Given the description of an element on the screen output the (x, y) to click on. 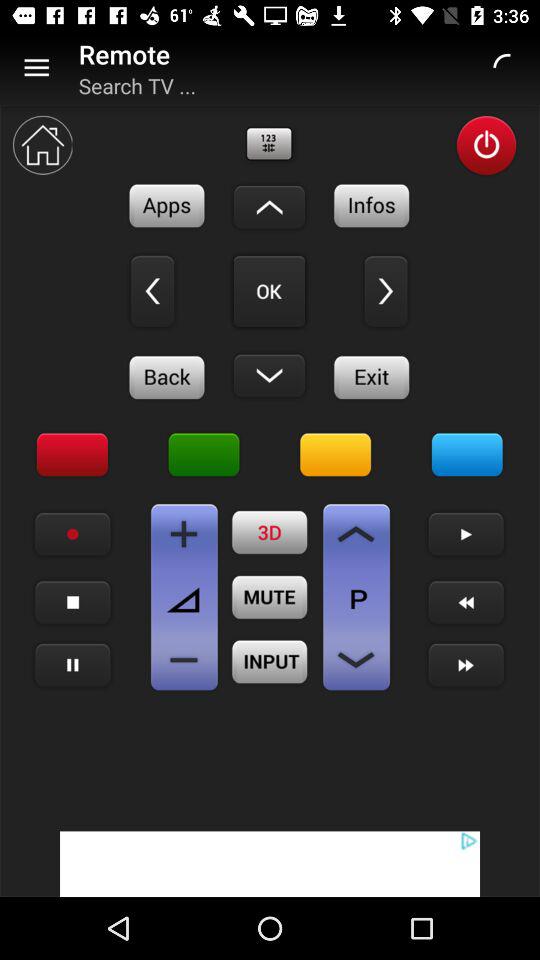
go to previous (466, 602)
